Given the description of an element on the screen output the (x, y) to click on. 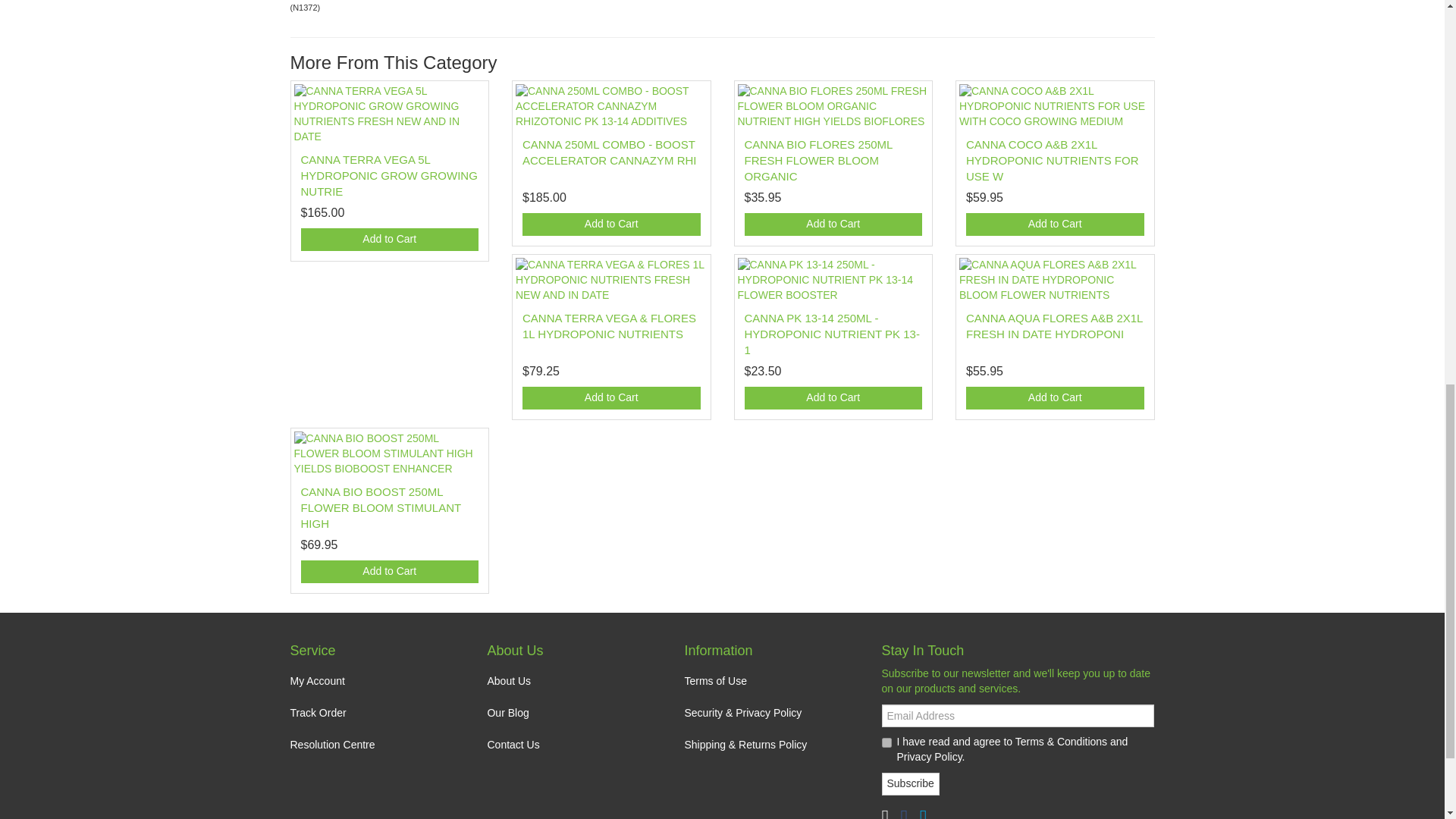
y (885, 742)
Subscribe (909, 784)
